Given the description of an element on the screen output the (x, y) to click on. 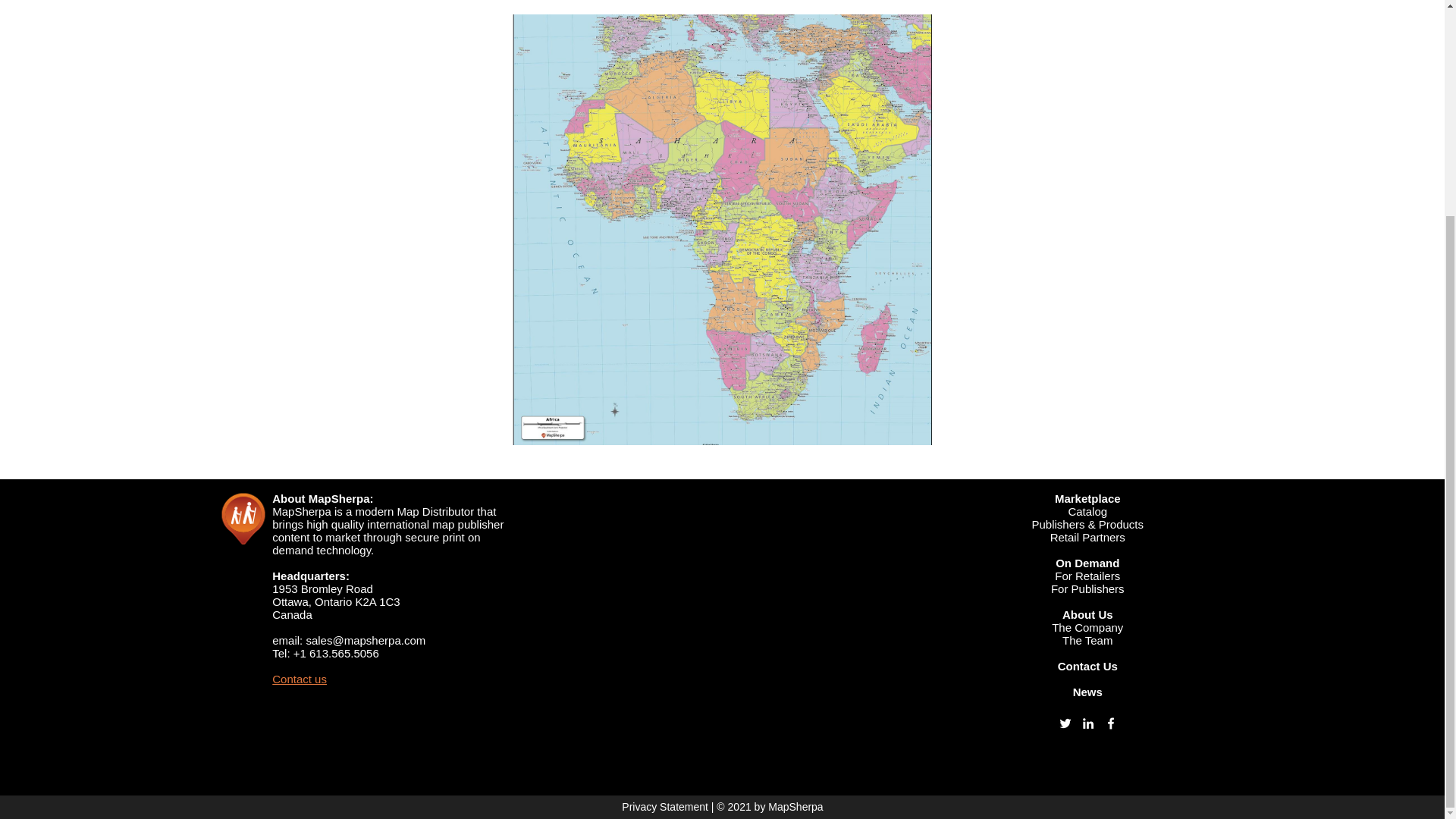
The Team (1087, 640)
Contact us (299, 678)
The Company (1086, 626)
Privacy Statement (664, 806)
News (1087, 691)
Contact Us (1088, 666)
For Retailers (1086, 575)
Catalog (1086, 511)
For Publishers (1087, 588)
Retail Partners (1087, 536)
